Given the description of an element on the screen output the (x, y) to click on. 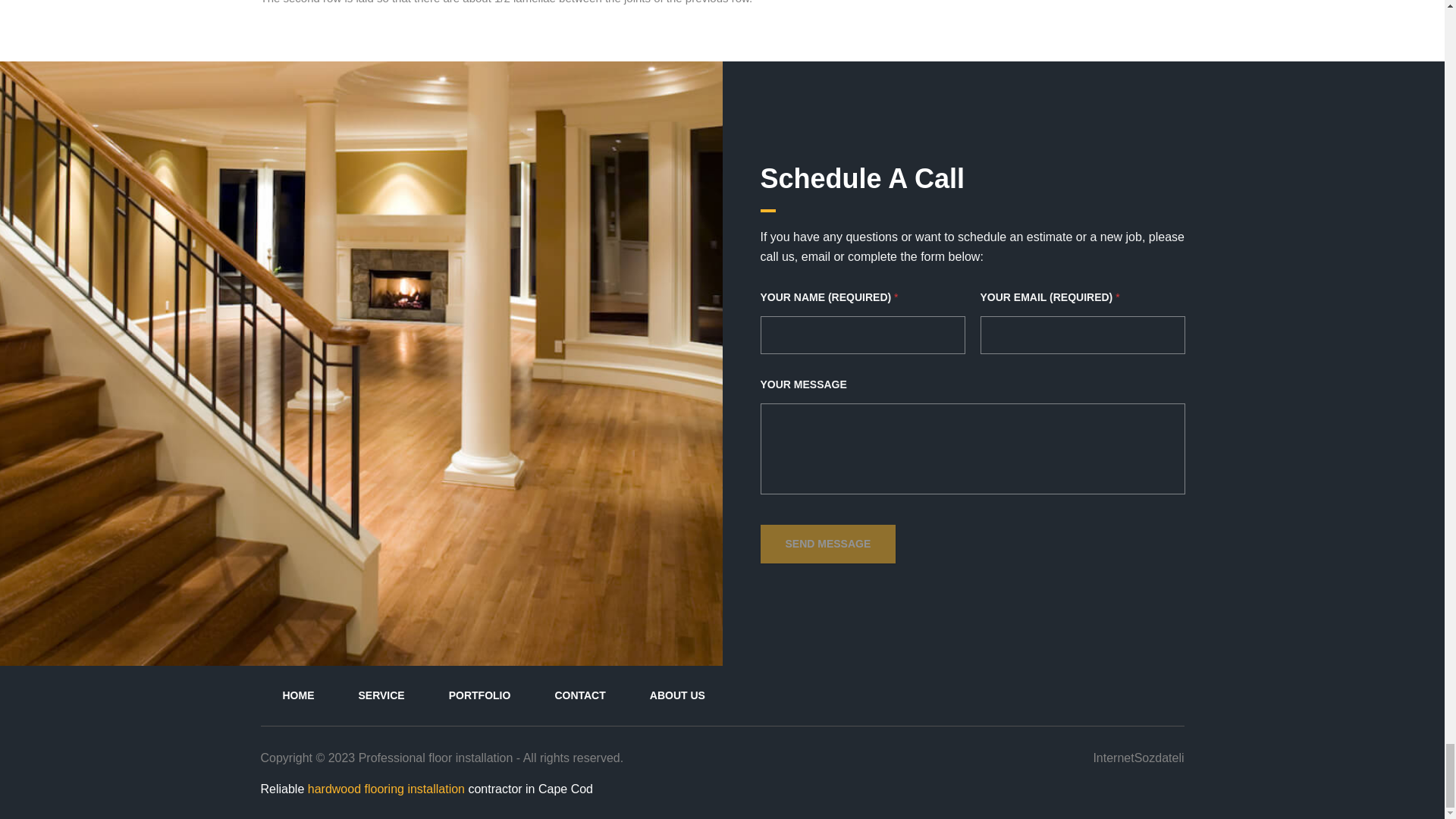
CONTACT (579, 695)
PORTFOLIO (479, 695)
ABOUT US (676, 695)
SERVICE (381, 695)
HOME (298, 695)
SEND MESSAGE (827, 543)
hardwood flooring installation (385, 788)
InternetSozdateli (1138, 757)
